Given the description of an element on the screen output the (x, y) to click on. 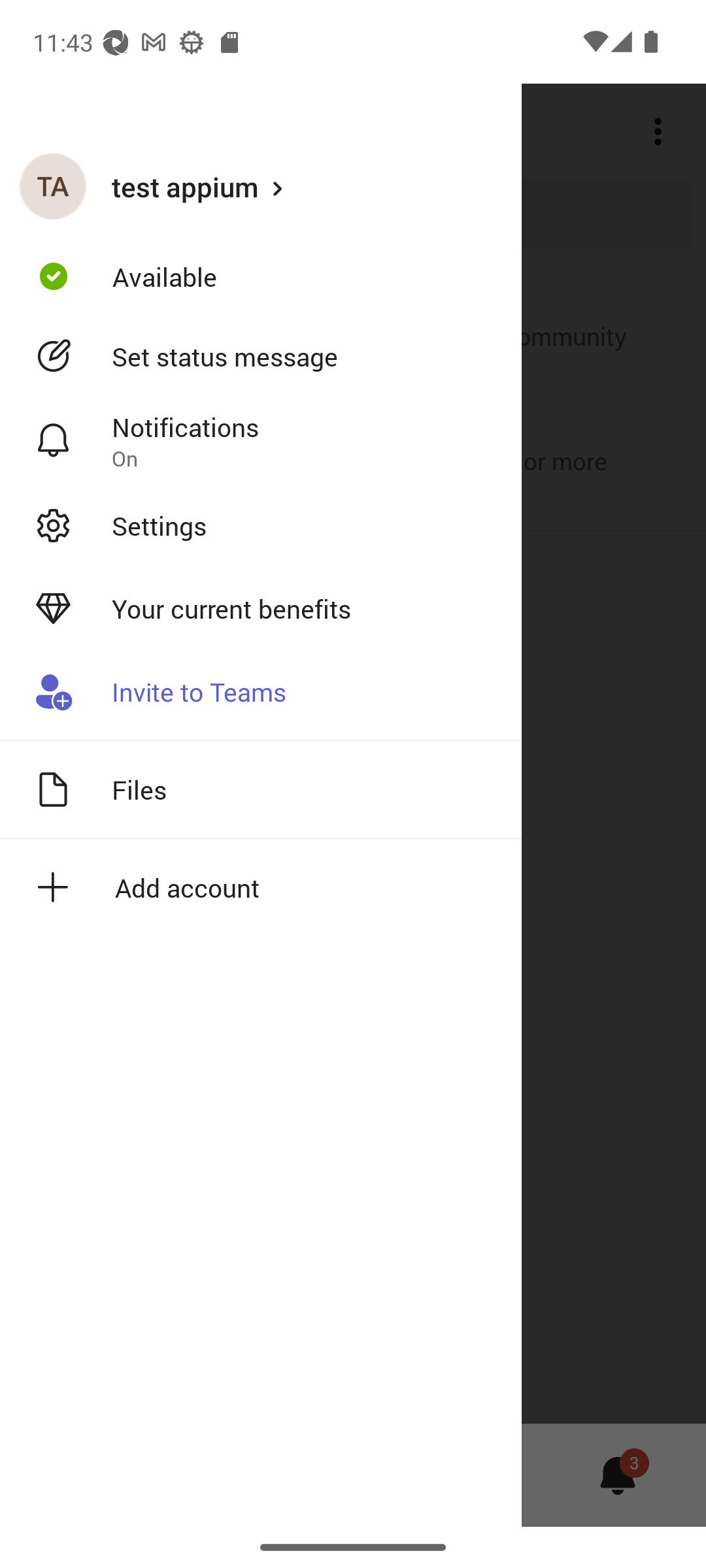
test appium (260, 186)
test appium profile picture (53, 186)
Notifications Notification settings On (260, 441)
Settings Open settings (260, 525)
Your current benefits (260, 608)
Invite to Teams Invite someone to your Teams org (260, 691)
Files (260, 789)
Add account icon Add account (260, 887)
